Given the description of an element on the screen output the (x, y) to click on. 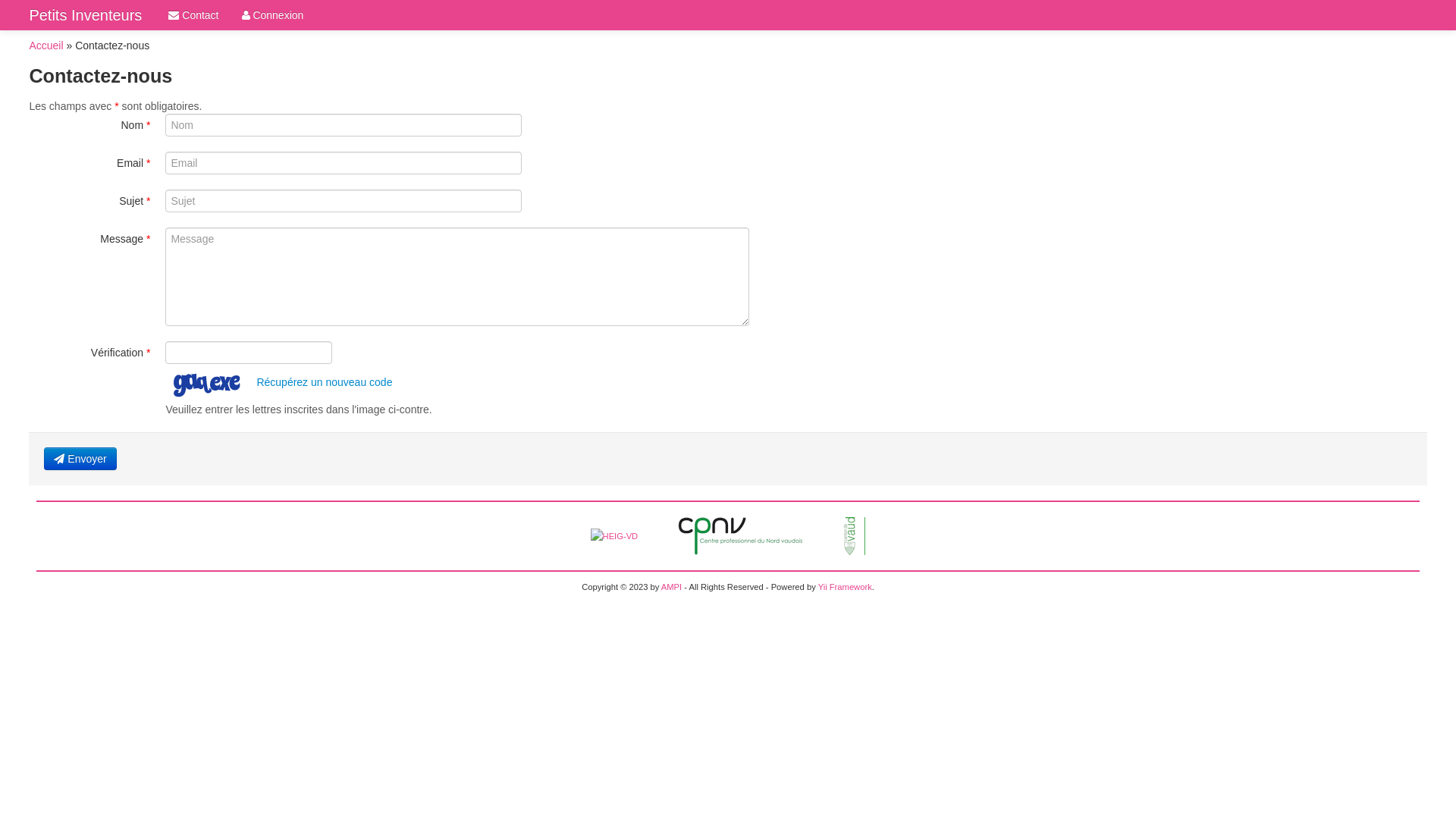
Etat de Vaud Element type: hover (854, 534)
Connexion Element type: text (272, 15)
Petits Inventeurs Element type: text (84, 15)
HEIG-VD Element type: hover (614, 534)
CPNV Element type: hover (740, 534)
Yii Framework Element type: text (845, 586)
Contact Element type: text (192, 15)
Envoyer Element type: text (79, 458)
Accueil Element type: text (45, 45)
AMPI Element type: text (671, 586)
